Given the description of an element on the screen output the (x, y) to click on. 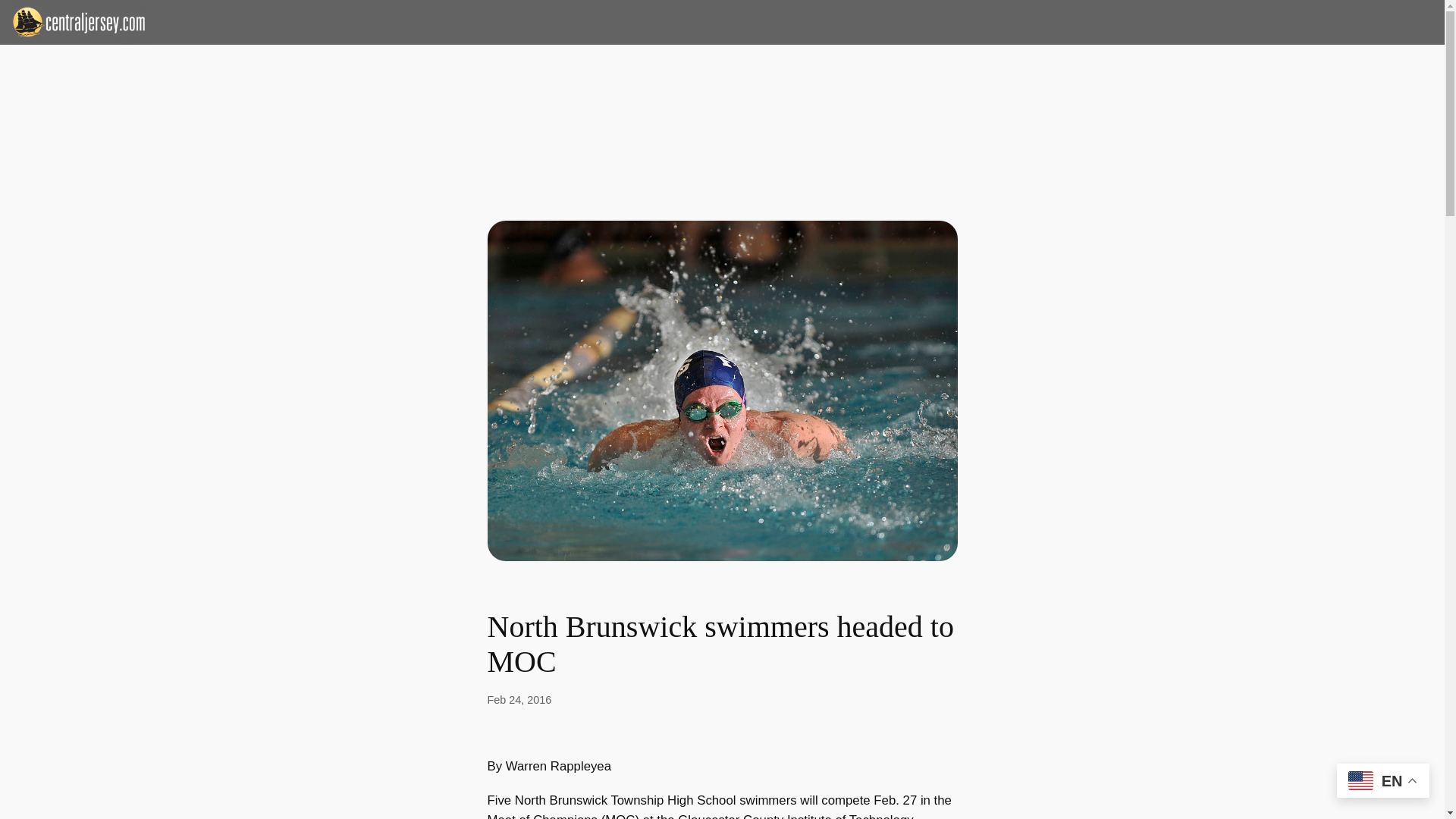
3rd party ad content (721, 92)
Feb 24, 2016 (518, 699)
